Given the description of an element on the screen output the (x, y) to click on. 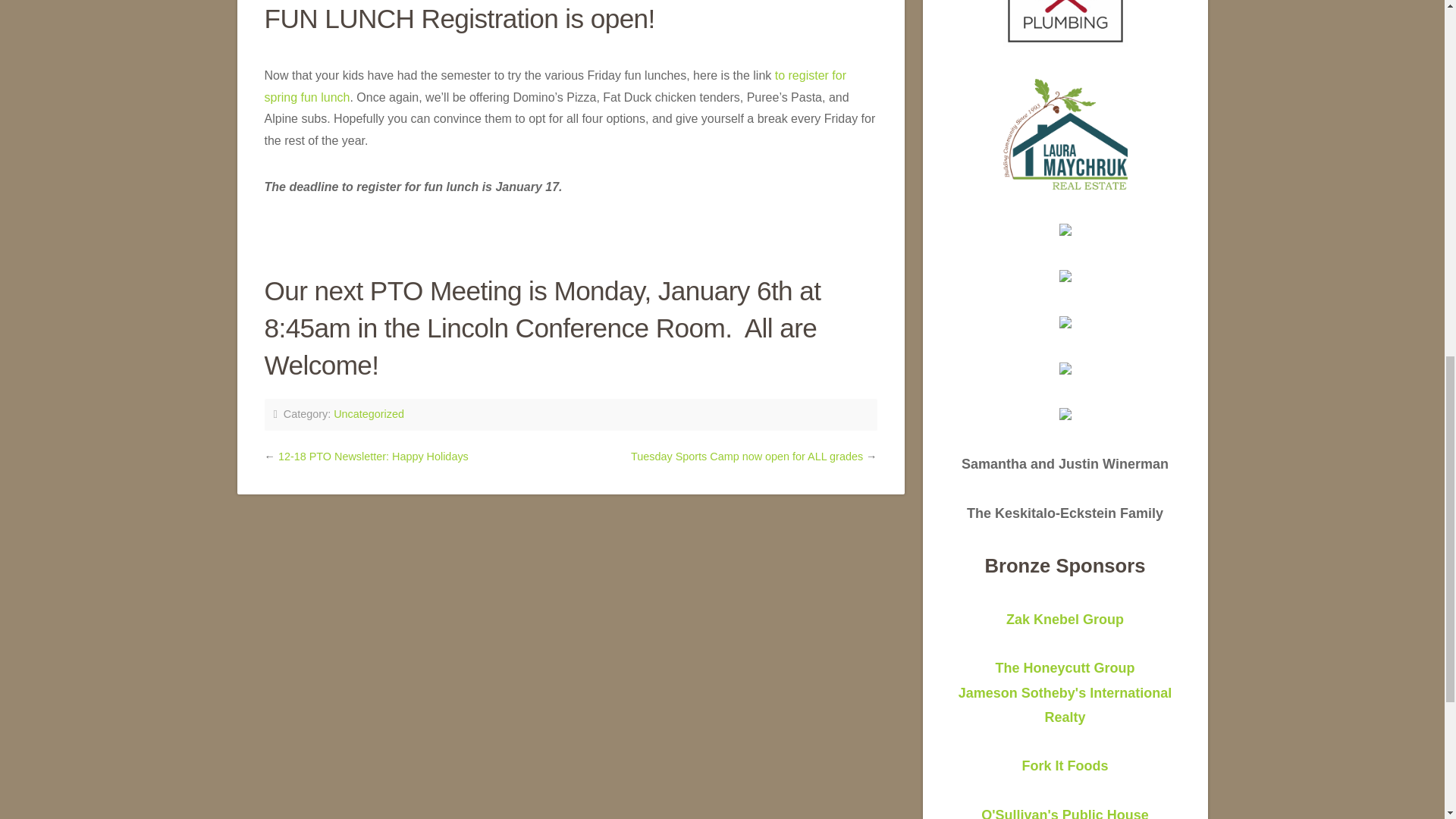
12-18 PTO Newsletter: Happy Holidays (1065, 692)
Uncategorized (373, 456)
Tuesday Sports Camp now open for ALL grades (368, 413)
O'Sullivan's Public House (746, 456)
Fork It Foods (1064, 813)
to register for spring fun lunch (1065, 765)
Zak Knebel Group (554, 86)
